Given the description of an element on the screen output the (x, y) to click on. 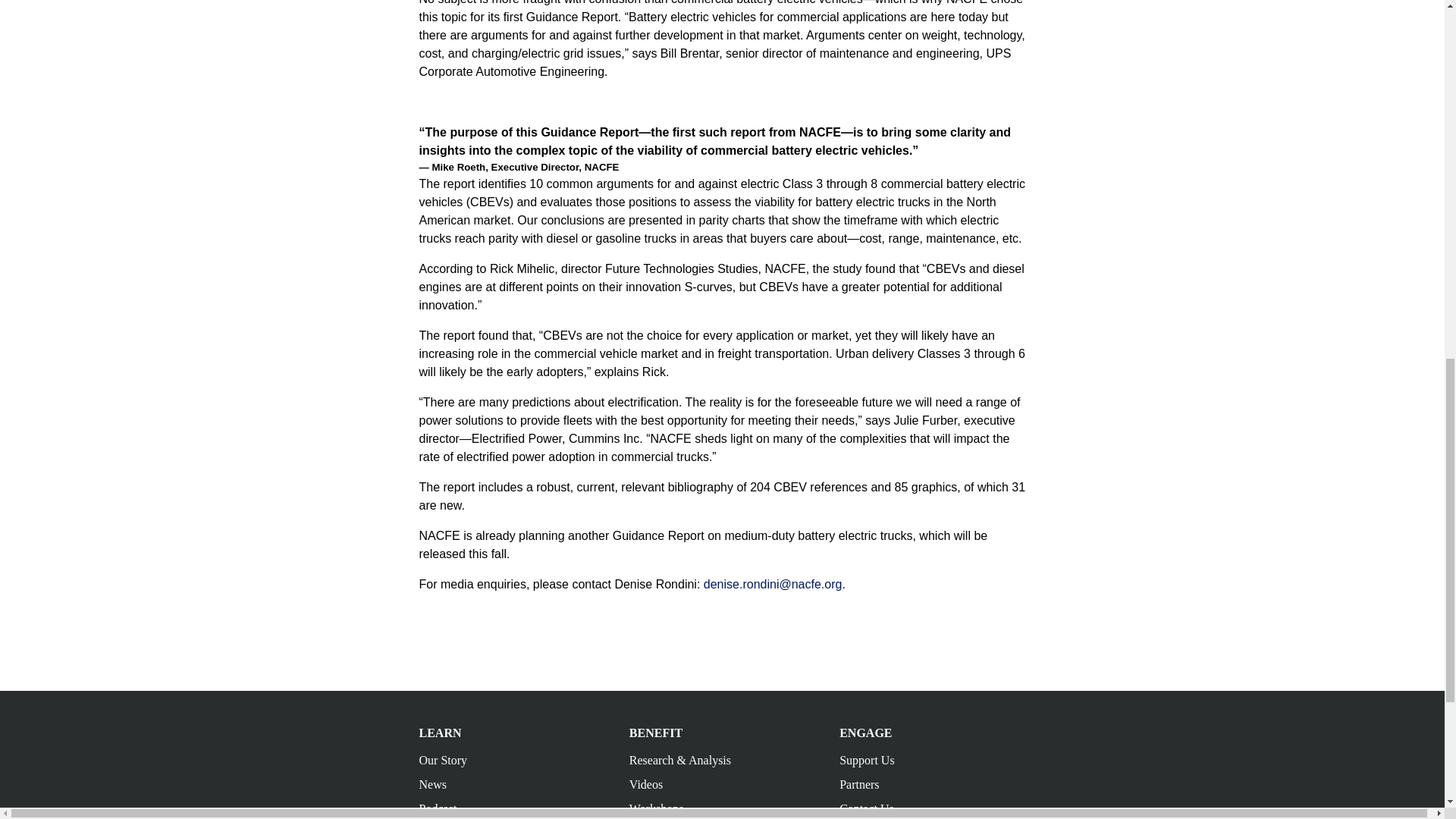
Contact Us (866, 808)
Support Us (866, 759)
Workshops (656, 808)
News (432, 784)
Our Story (443, 759)
Podcast (438, 808)
Videos (645, 784)
Partners (859, 784)
